Given the description of an element on the screen output the (x, y) to click on. 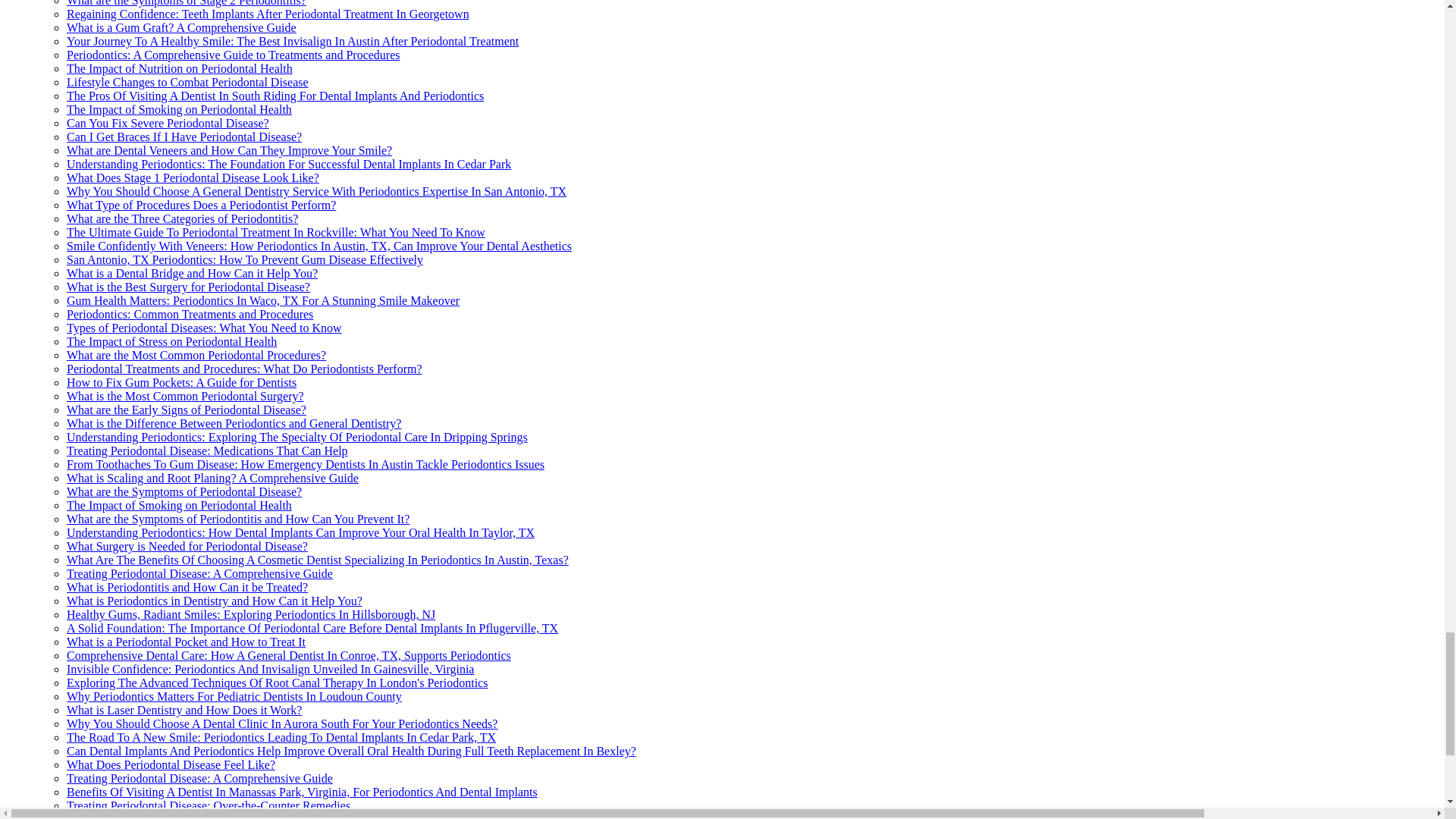
What are the Symptoms of Stage 2 Periodontitis? (185, 3)
What is a Gum Graft? A Comprehensive Guide (181, 27)
The Impact of Nutrition on Periodontal Health (179, 68)
